Given the description of an element on the screen output the (x, y) to click on. 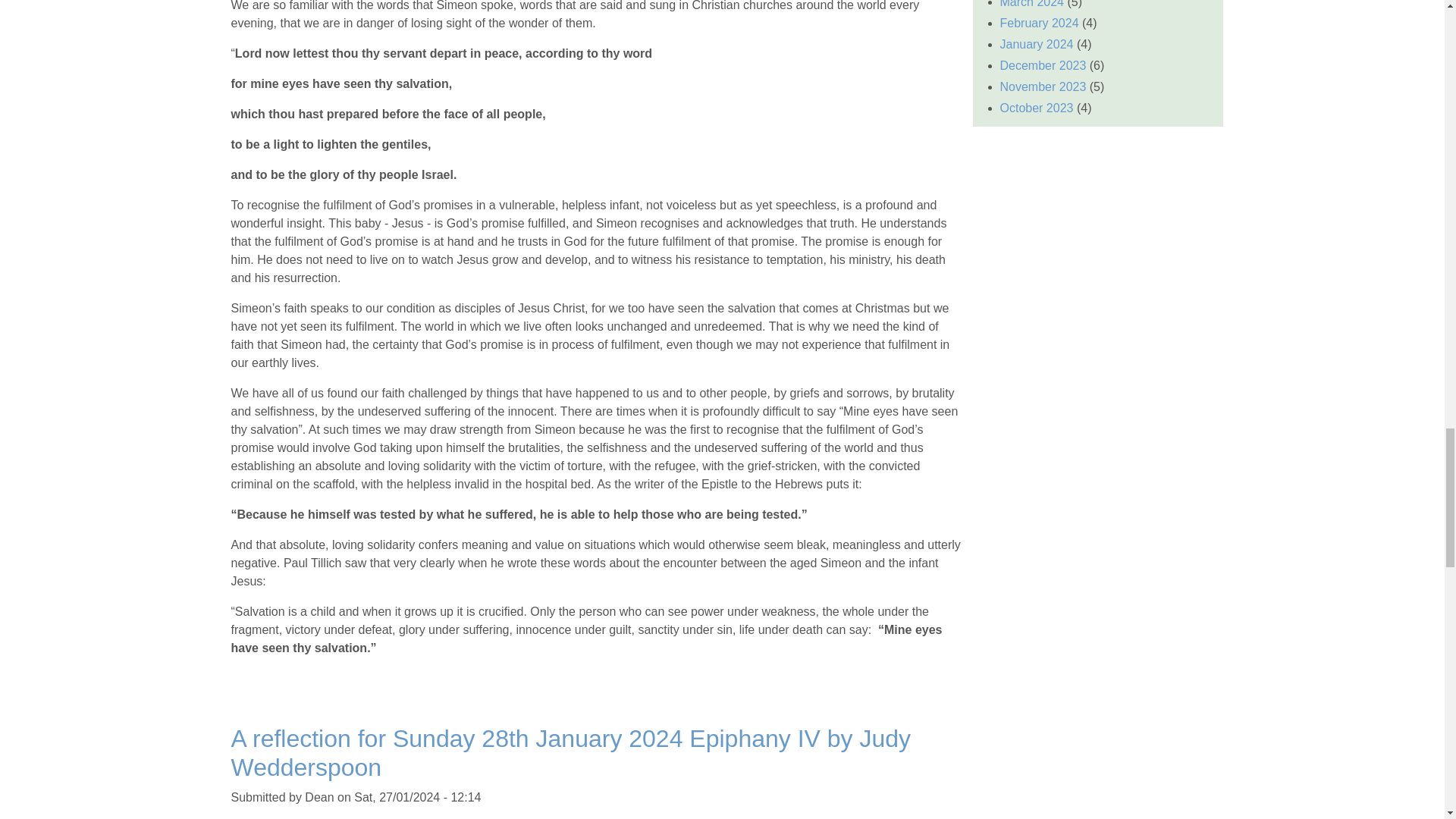
Saturday, January 27, 2024 - 12:14 (416, 797)
